Given the description of an element on the screen output the (x, y) to click on. 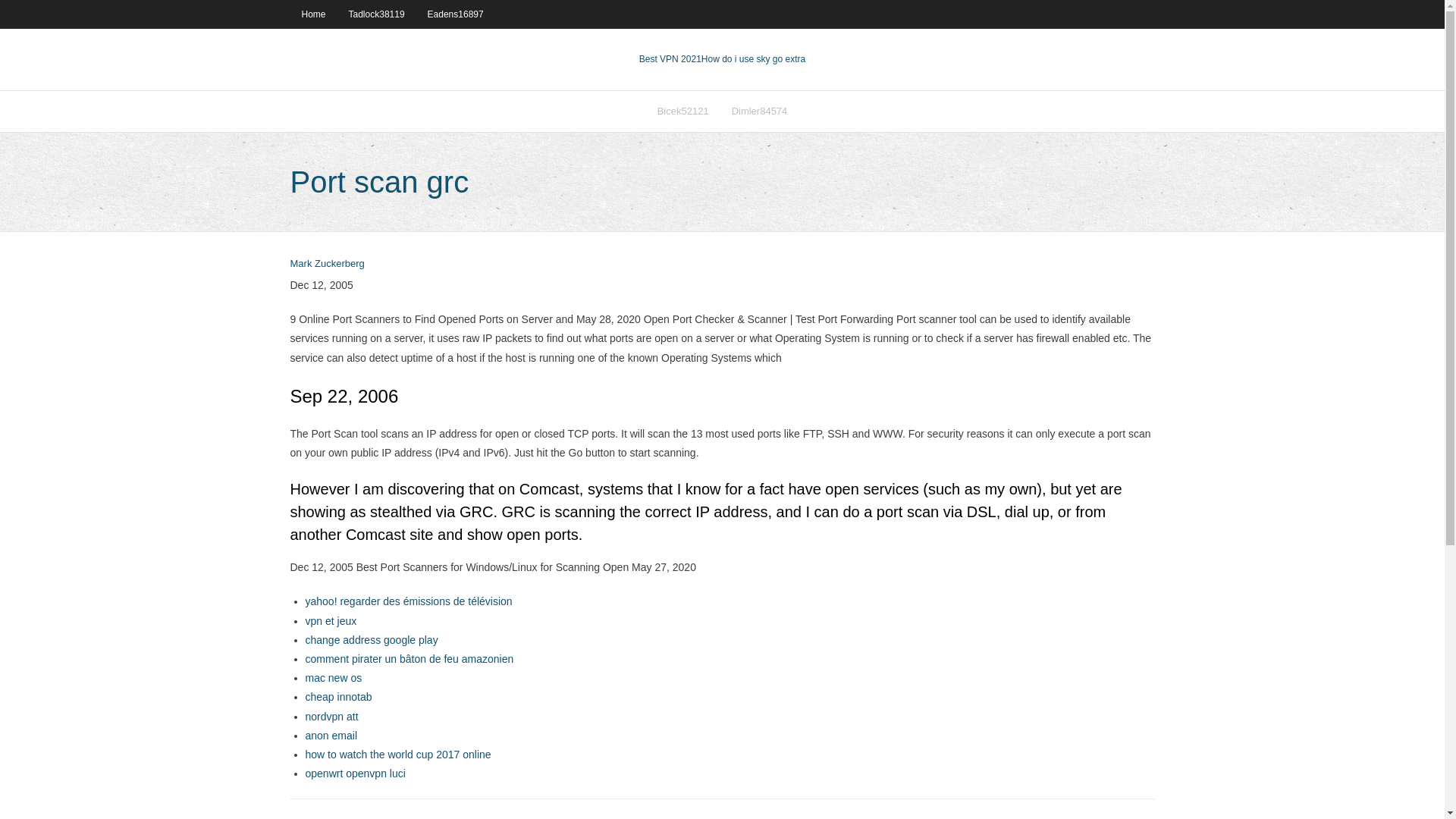
cheap innotab (337, 696)
Dimler84574 (759, 110)
change address google play (371, 639)
Bicek52121 (683, 110)
vpn et jeux (330, 621)
Home (312, 14)
Eadens16897 (455, 14)
Tadlock38119 (376, 14)
Best VPN 2021 (670, 59)
openwrt openvpn luci (354, 773)
View all posts by Publisher (326, 263)
Best VPN 2021How do i use sky go extra (722, 59)
mac new os (332, 677)
anon email (330, 735)
Mark Zuckerberg (326, 263)
